Given the description of an element on the screen output the (x, y) to click on. 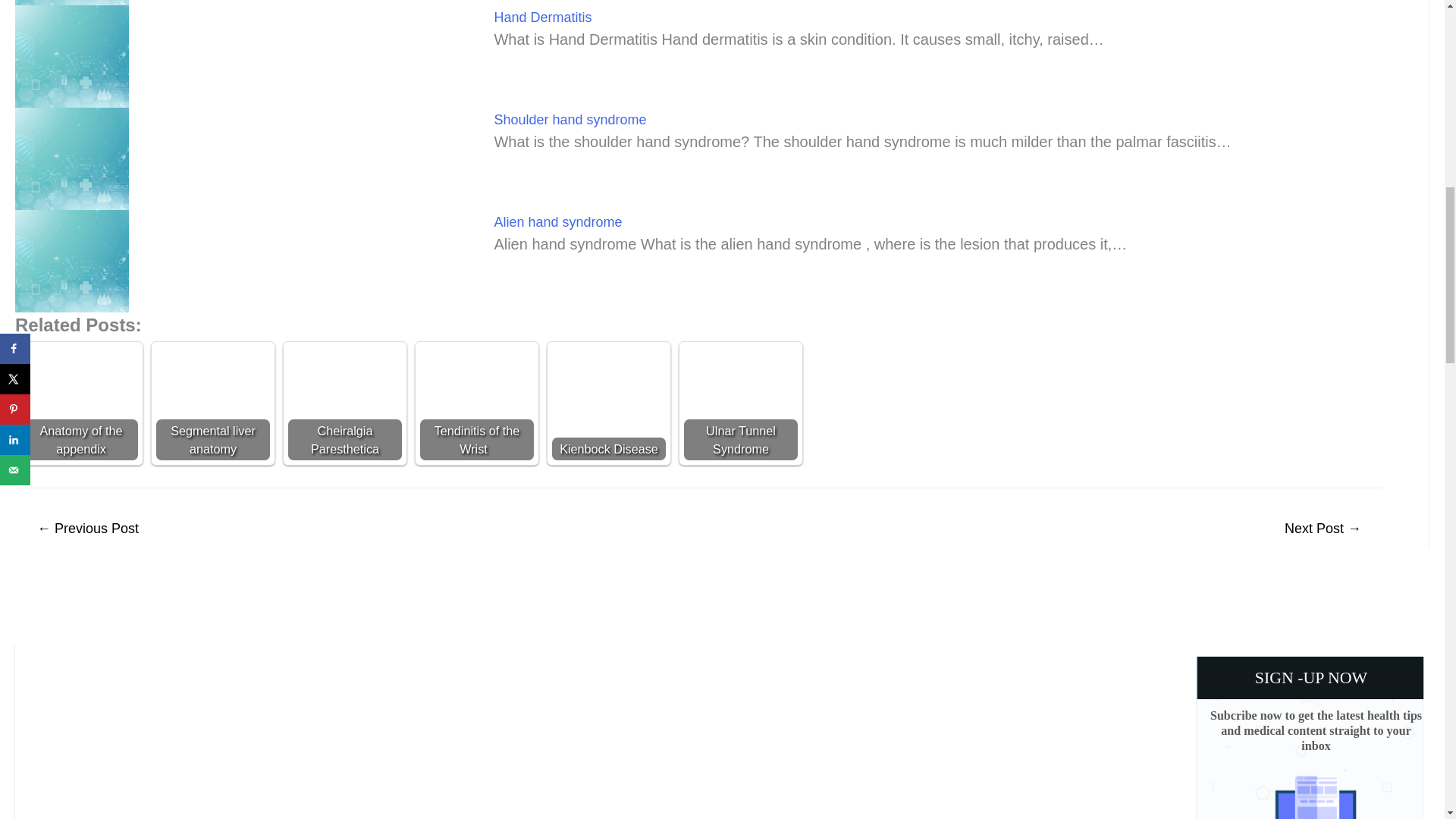
Segmental liver anatomy (212, 403)
Shoulder hand syndrome (569, 119)
Alien hand syndrome (557, 222)
Anatomy of the appendix (81, 403)
Hand Dermatitis (542, 17)
